Given the description of an element on the screen output the (x, y) to click on. 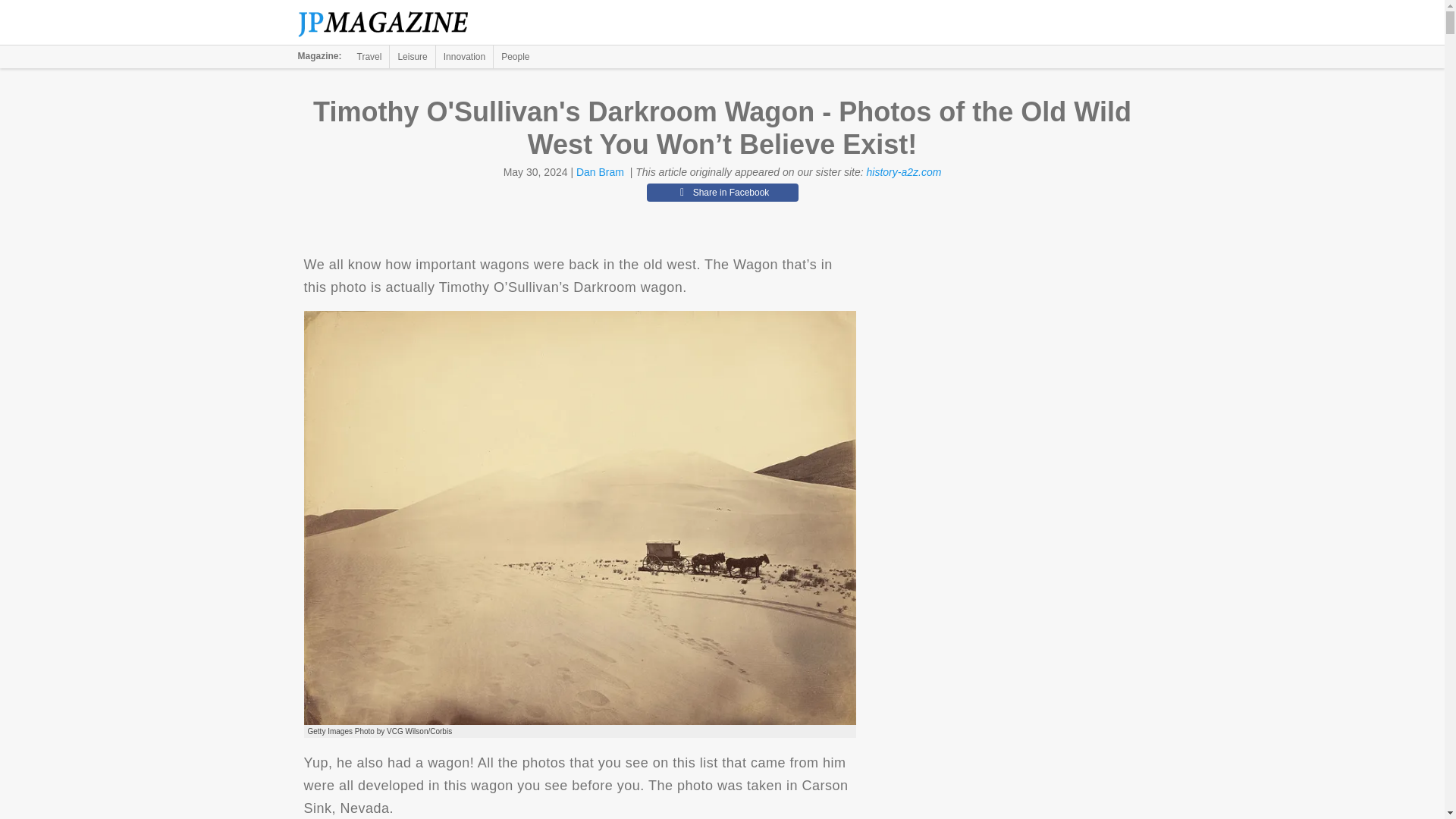
The Jerusalem Post Magazine (391, 22)
Travel (369, 56)
history-a2z.com (904, 172)
Dan Bram (600, 172)
People (515, 56)
Innovation (464, 56)
Share in Facebook (721, 192)
Leisure (411, 56)
